Given the description of an element on the screen output the (x, y) to click on. 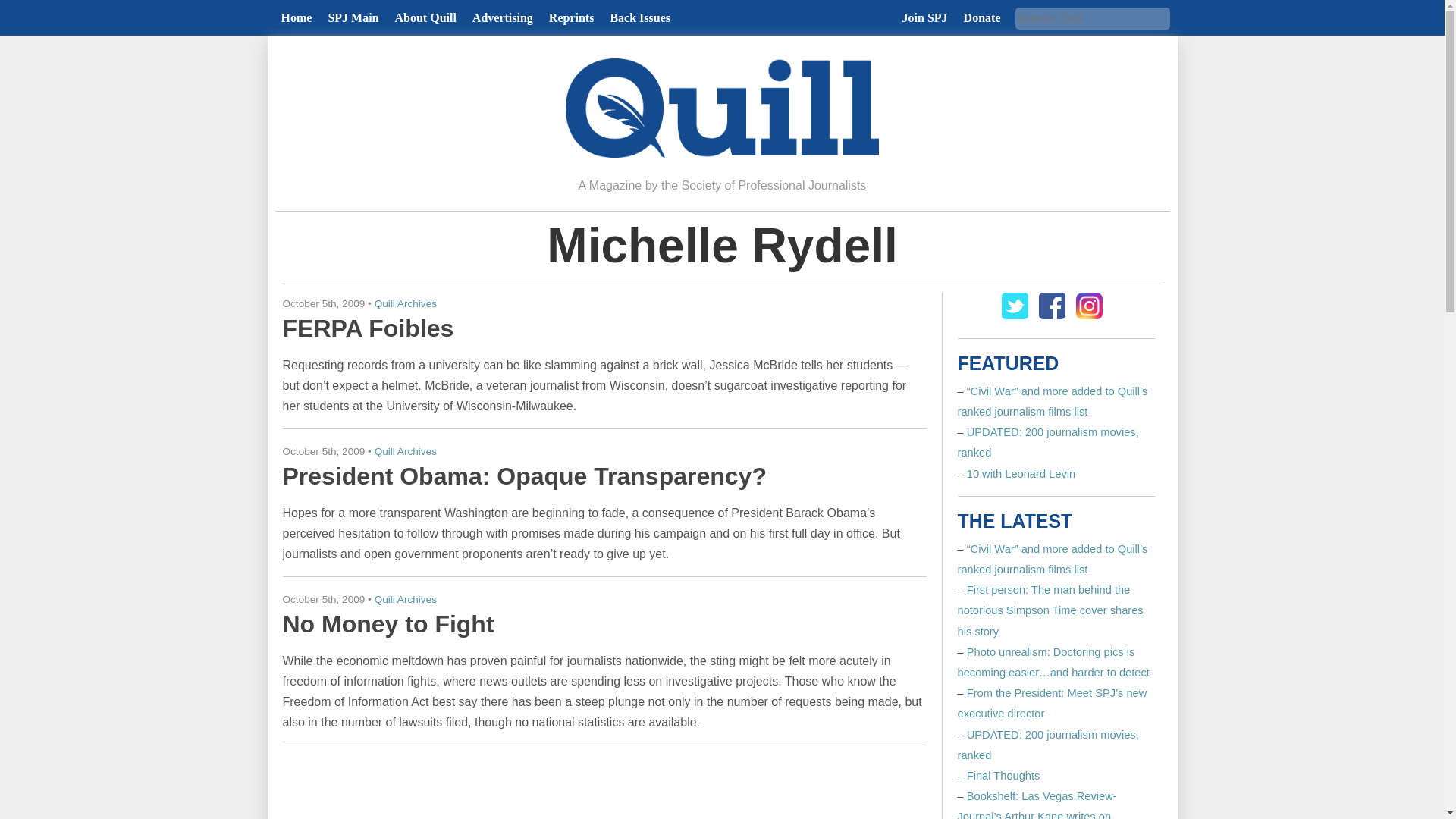
Permanent Link to President Obama: Opaque Transparency? (523, 475)
Back Issues (639, 17)
President Obama: Opaque Transparency? (523, 475)
Permanent Link to No Money to Fight (387, 624)
Permanent Link to FERPA Foibles (367, 328)
UPDATED: 200 journalism movies, ranked (1047, 744)
Quill Archives (405, 303)
Join SPJ (924, 17)
Search (25, 9)
Reprints (571, 17)
FERPA Foibles (367, 328)
Donate (982, 17)
Home (296, 17)
No Money to Fight (387, 624)
